Given the description of an element on the screen output the (x, y) to click on. 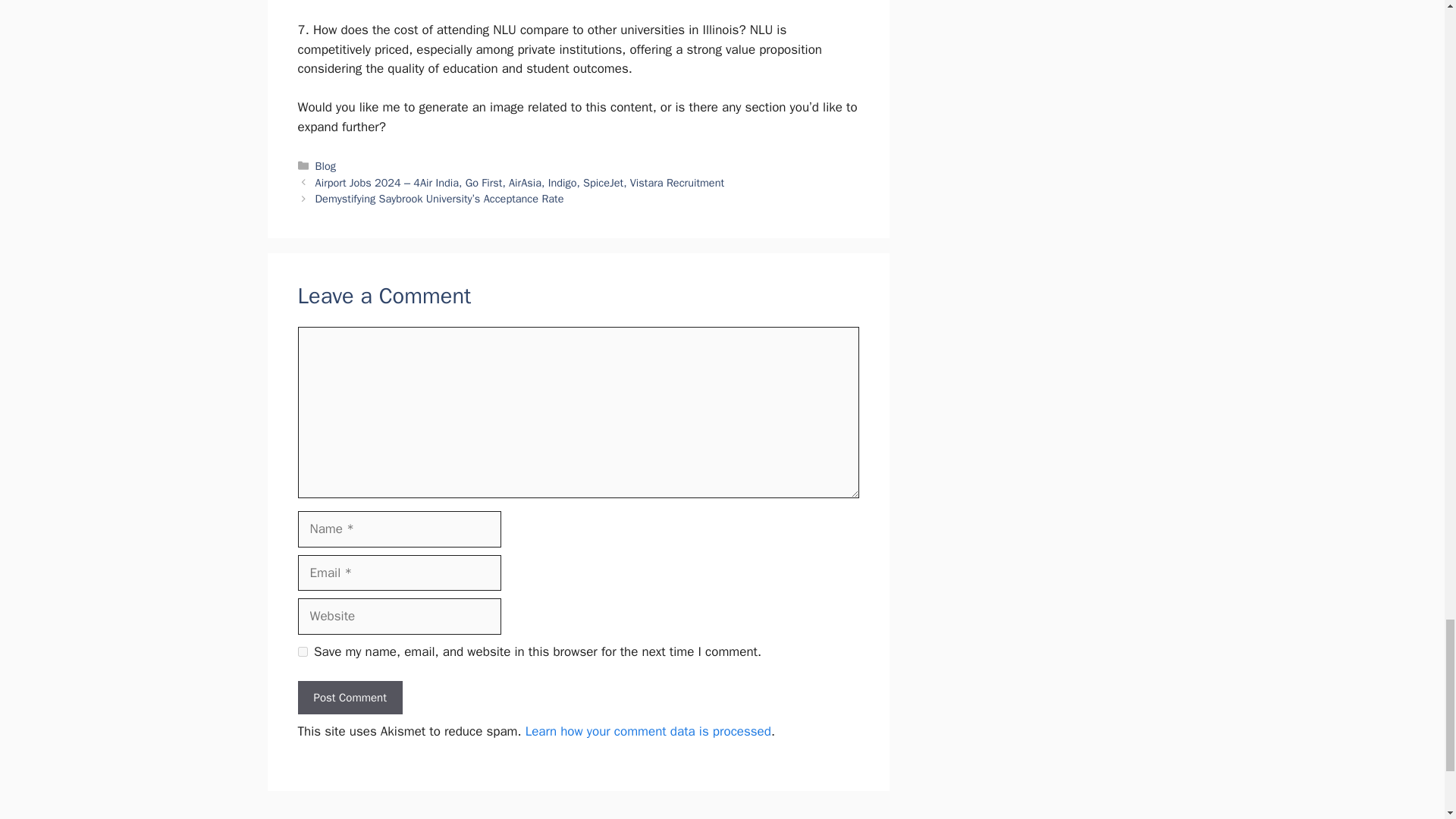
Blog (325, 165)
yes (302, 651)
Post Comment (349, 697)
Post Comment (349, 697)
Learn how your comment data is processed (648, 731)
